Given the description of an element on the screen output the (x, y) to click on. 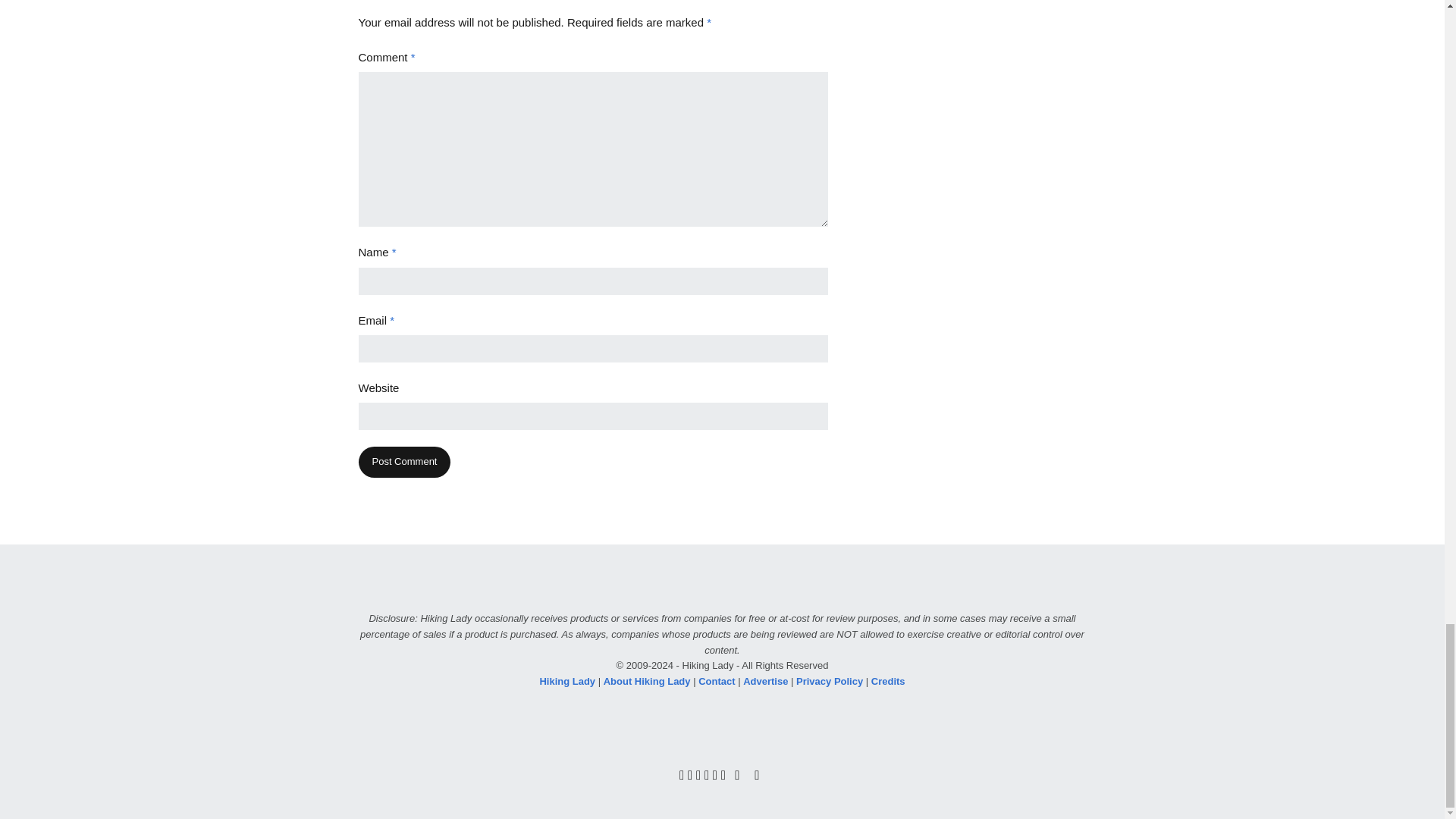
Post Comment (403, 461)
